Given the description of an element on the screen output the (x, y) to click on. 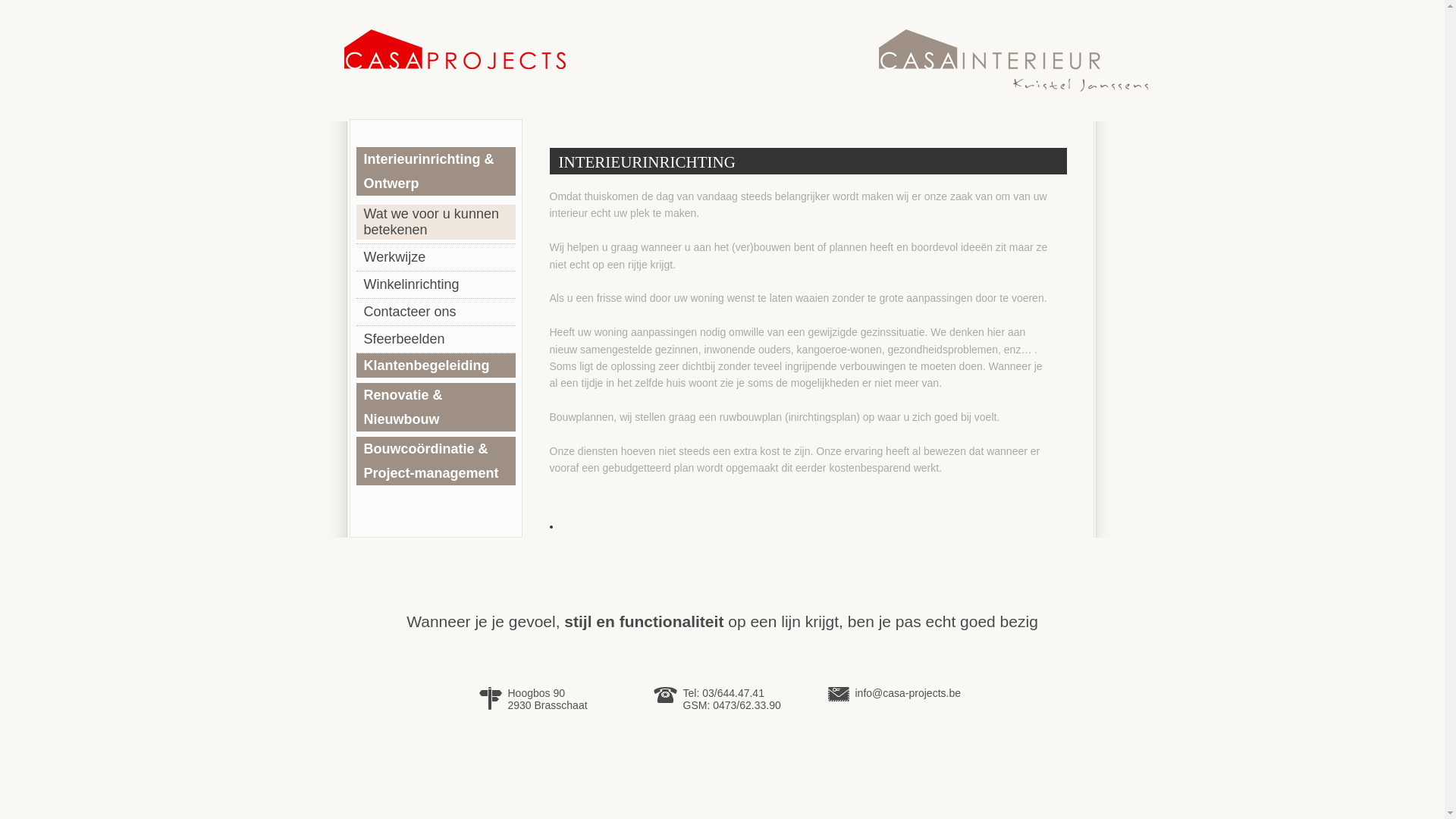
Contacteer ons Element type: text (435, 311)
Winkelinrichting Element type: text (435, 284)
Sfeerbeelden Element type: text (435, 338)
info@casa-projects.be Element type: text (908, 693)
Werkwijze Element type: text (435, 256)
Wat we voor u kunnen betekenen Element type: text (435, 221)
